Given the description of an element on the screen output the (x, y) to click on. 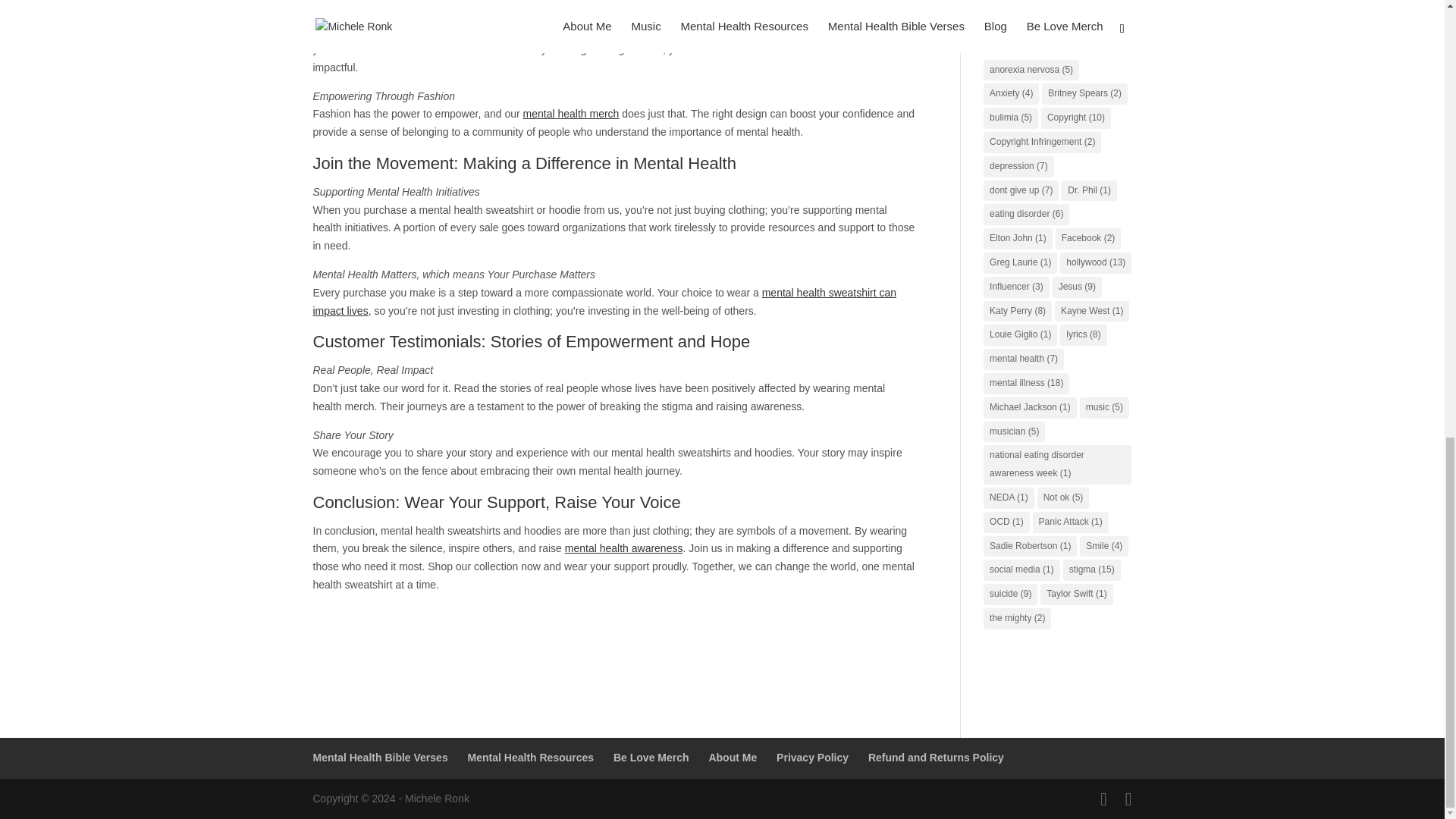
mental health awareness (623, 548)
Society (1000, 4)
Songwriting (1011, 27)
mental health merch (571, 113)
mental health sweatshirt can impact lives (604, 301)
